Given the description of an element on the screen output the (x, y) to click on. 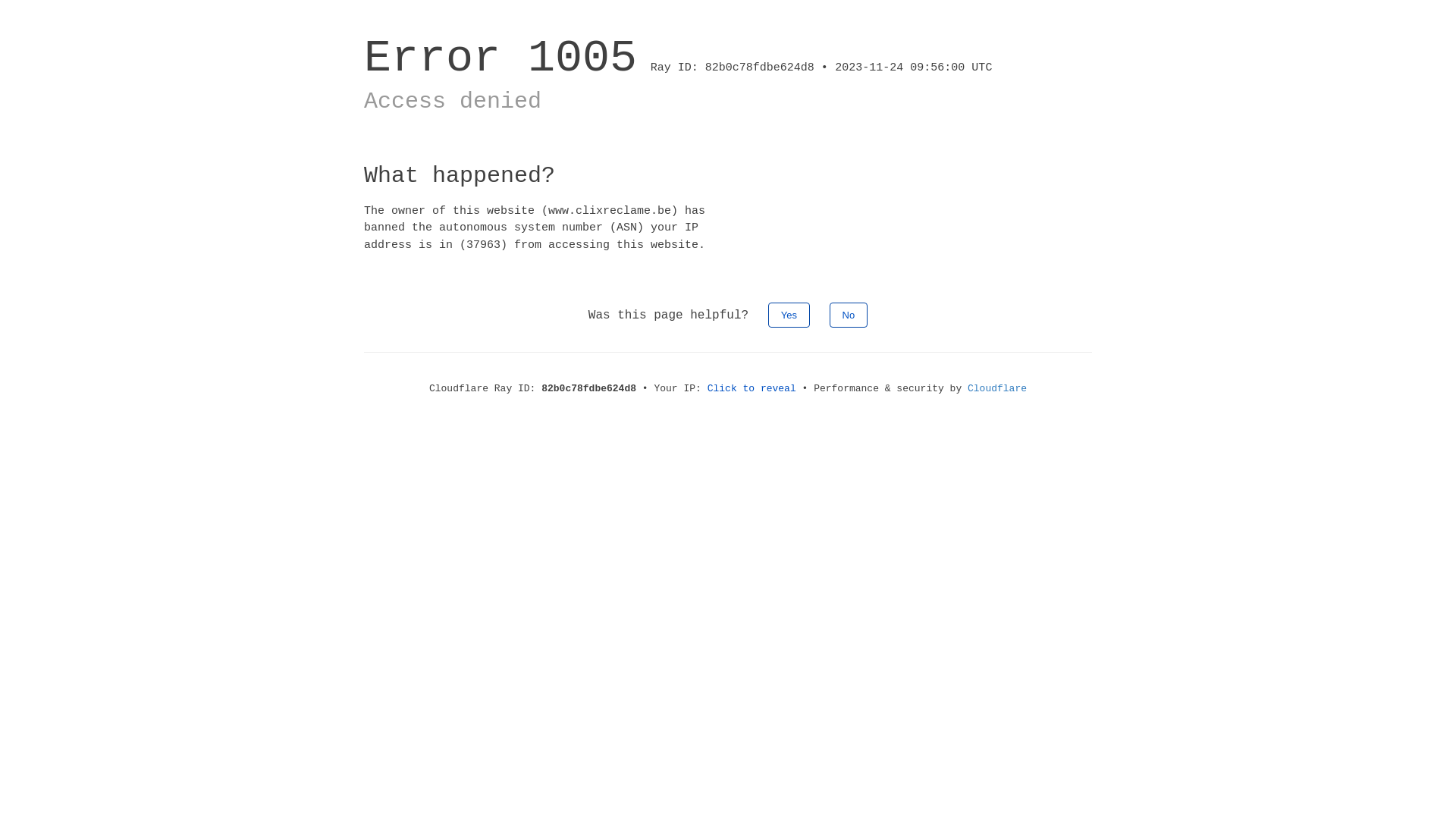
Click to reveal Element type: text (751, 388)
No Element type: text (848, 314)
Yes Element type: text (788, 314)
Cloudflare Element type: text (996, 388)
